Given the description of an element on the screen output the (x, y) to click on. 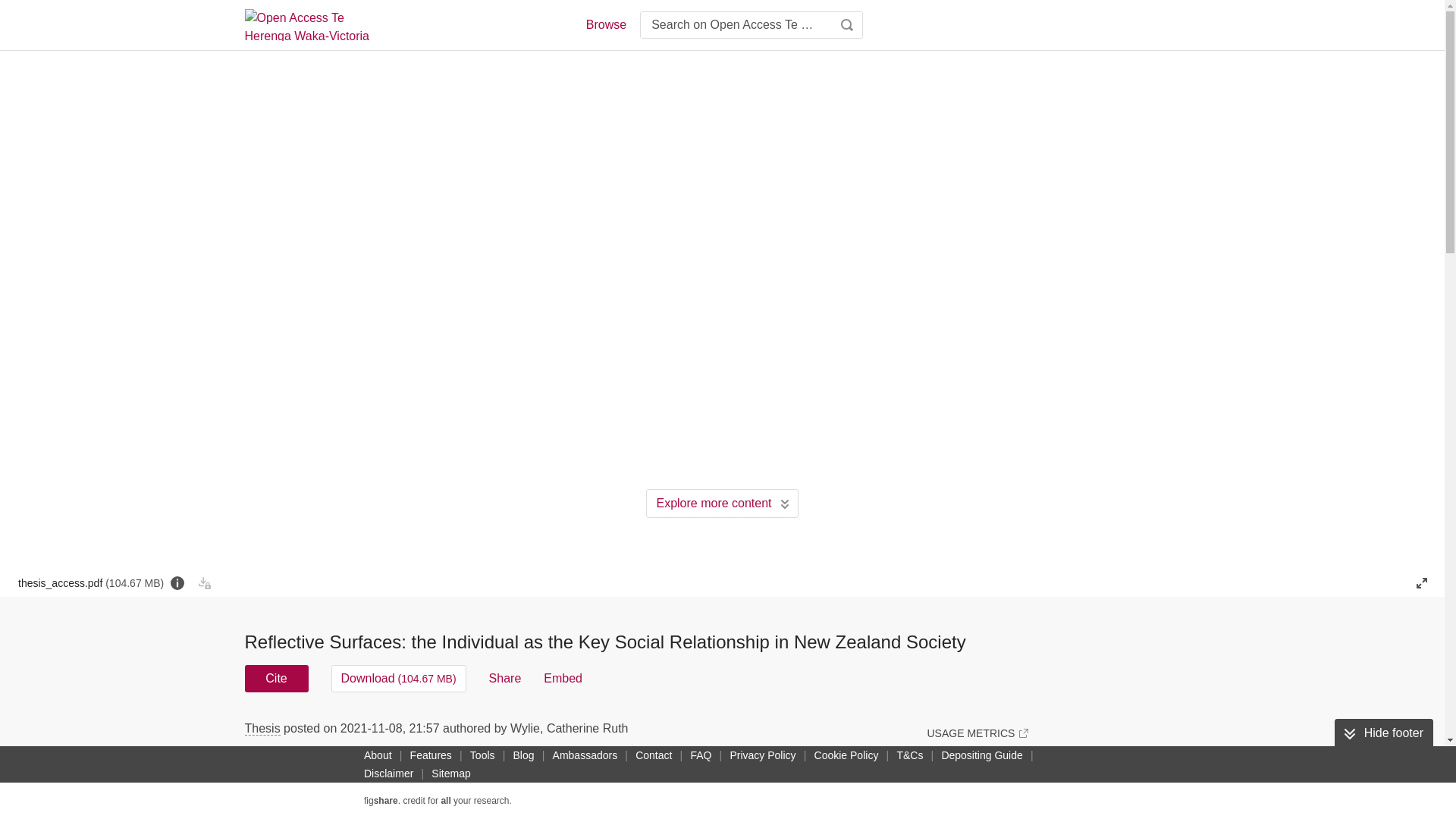
Share (505, 678)
USAGE METRICS (976, 732)
Cite (275, 678)
Embed (562, 678)
Hide footer (1383, 733)
Features (431, 755)
Explore more content (721, 502)
About (377, 755)
Browse (605, 24)
Tools (482, 755)
